Given the description of an element on the screen output the (x, y) to click on. 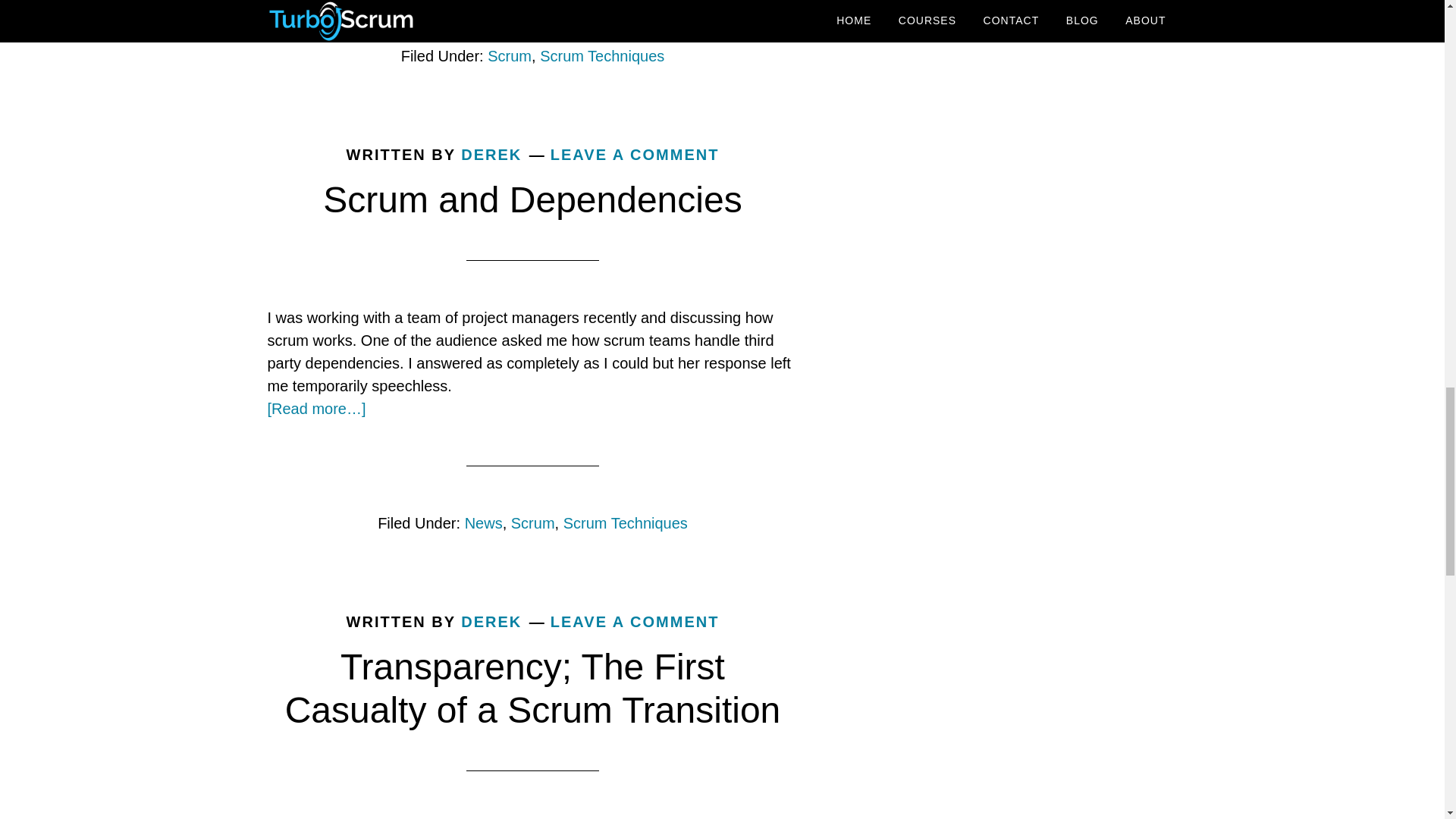
DEREK (491, 154)
Scrum (532, 523)
Scrum (509, 55)
LEAVE A COMMENT (634, 621)
News (483, 523)
Scrum and Dependencies (532, 199)
LEAVE A COMMENT (634, 154)
Transparency; The First Casualty of a Scrum Transition (532, 689)
DEREK (491, 621)
Scrum Techniques (625, 523)
Scrum Techniques (601, 55)
